Given the description of an element on the screen output the (x, y) to click on. 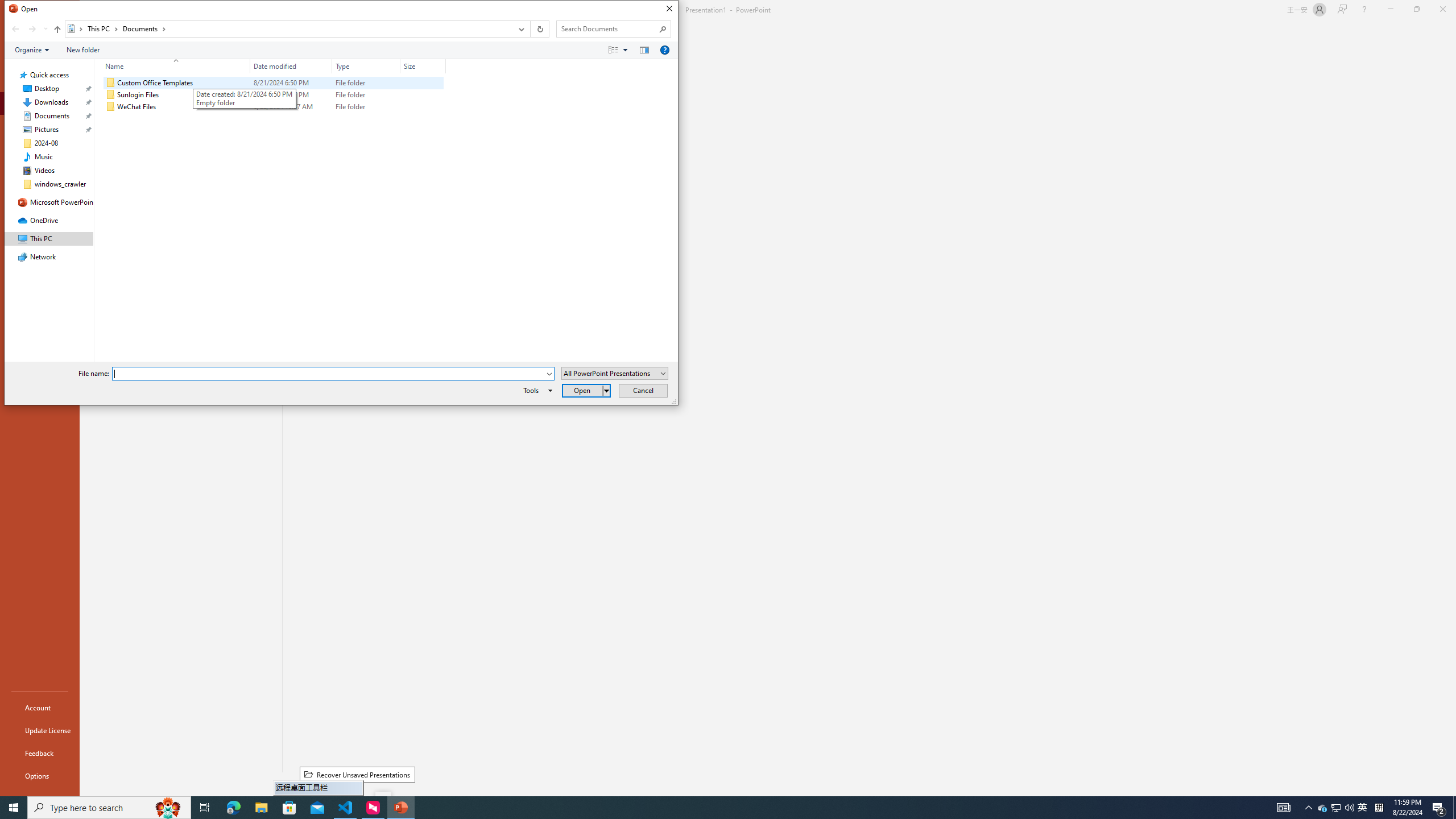
Type (365, 65)
Tools (535, 390)
Feedback (40, 753)
This PC (102, 28)
Back (Alt + Left Arrow) (15, 28)
Forward (Alt + Right Arrow) (31, 28)
Name (173, 65)
Type (365, 106)
Custom Office Templates (273, 82)
Tools (535, 390)
Recent locations (44, 28)
